Given the description of an element on the screen output the (x, y) to click on. 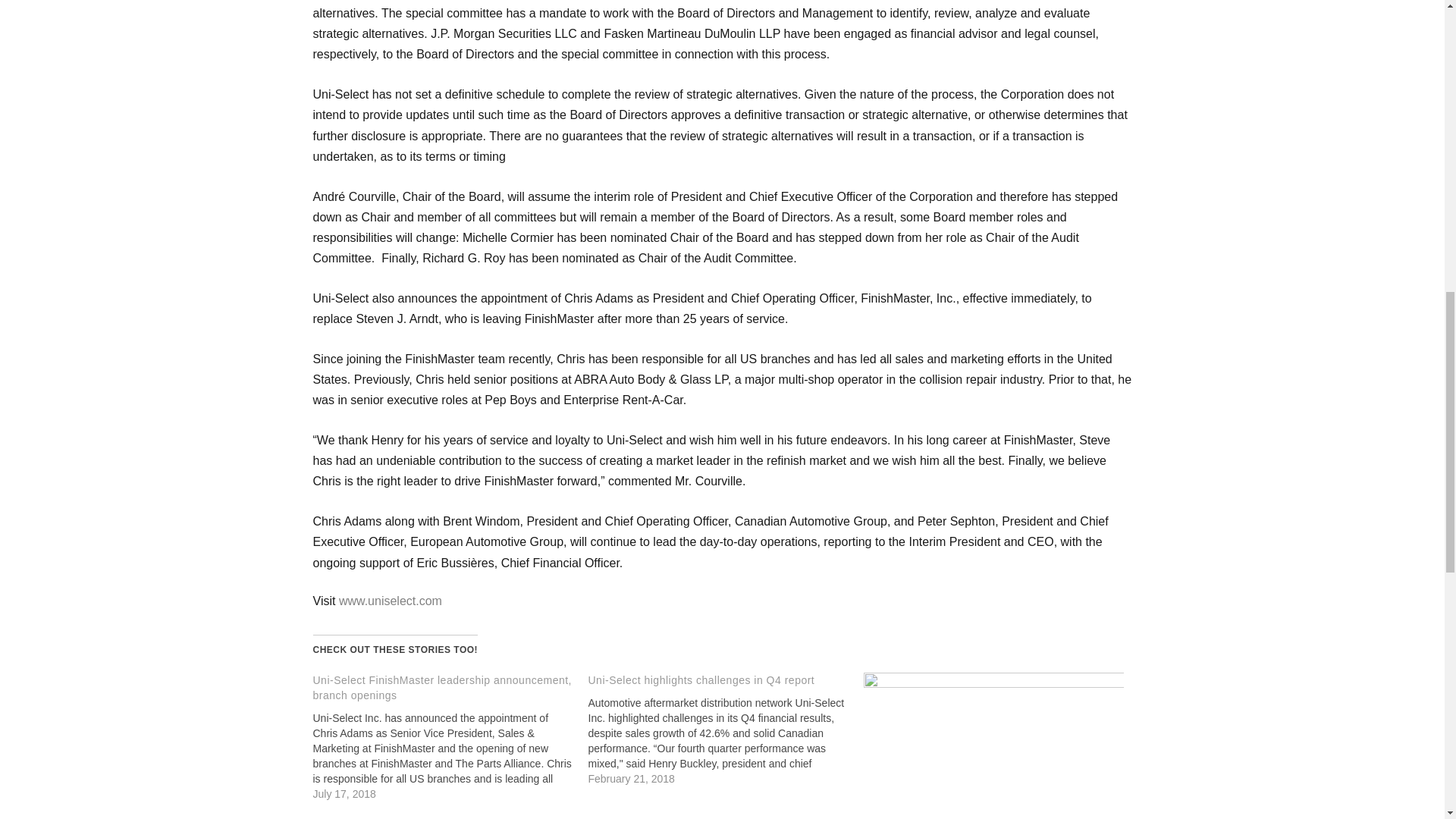
Uni-Select highlights challenges in Q4 report (701, 680)
Uni-Select highlights challenges in Q4 report (701, 680)
Uni-Select results fueled by The Parts Alliance (992, 745)
Uni-Select highlights challenges in Q4 report (725, 729)
www.uniselect.com (390, 600)
